Given the description of an element on the screen output the (x, y) to click on. 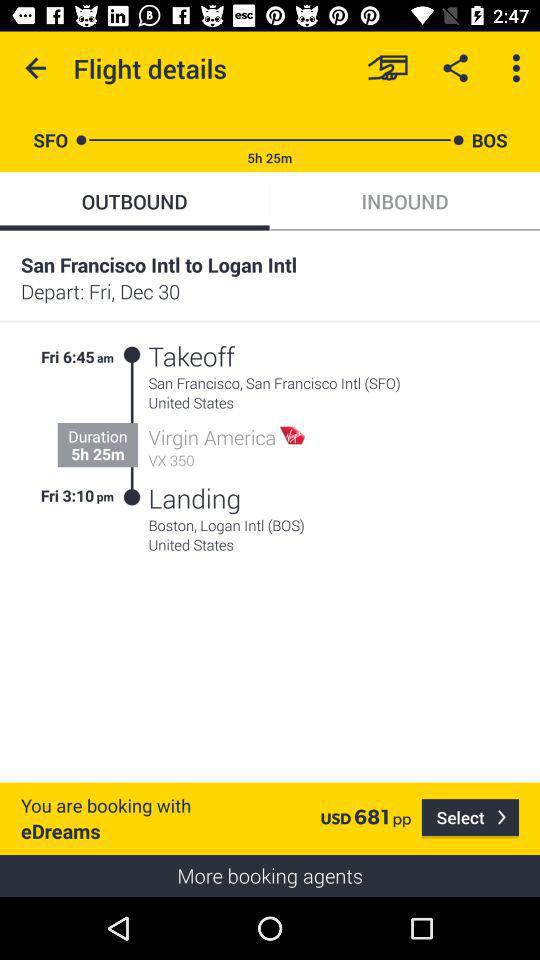
turn off the item to the left of the flight details item (36, 68)
